Given the description of an element on the screen output the (x, y) to click on. 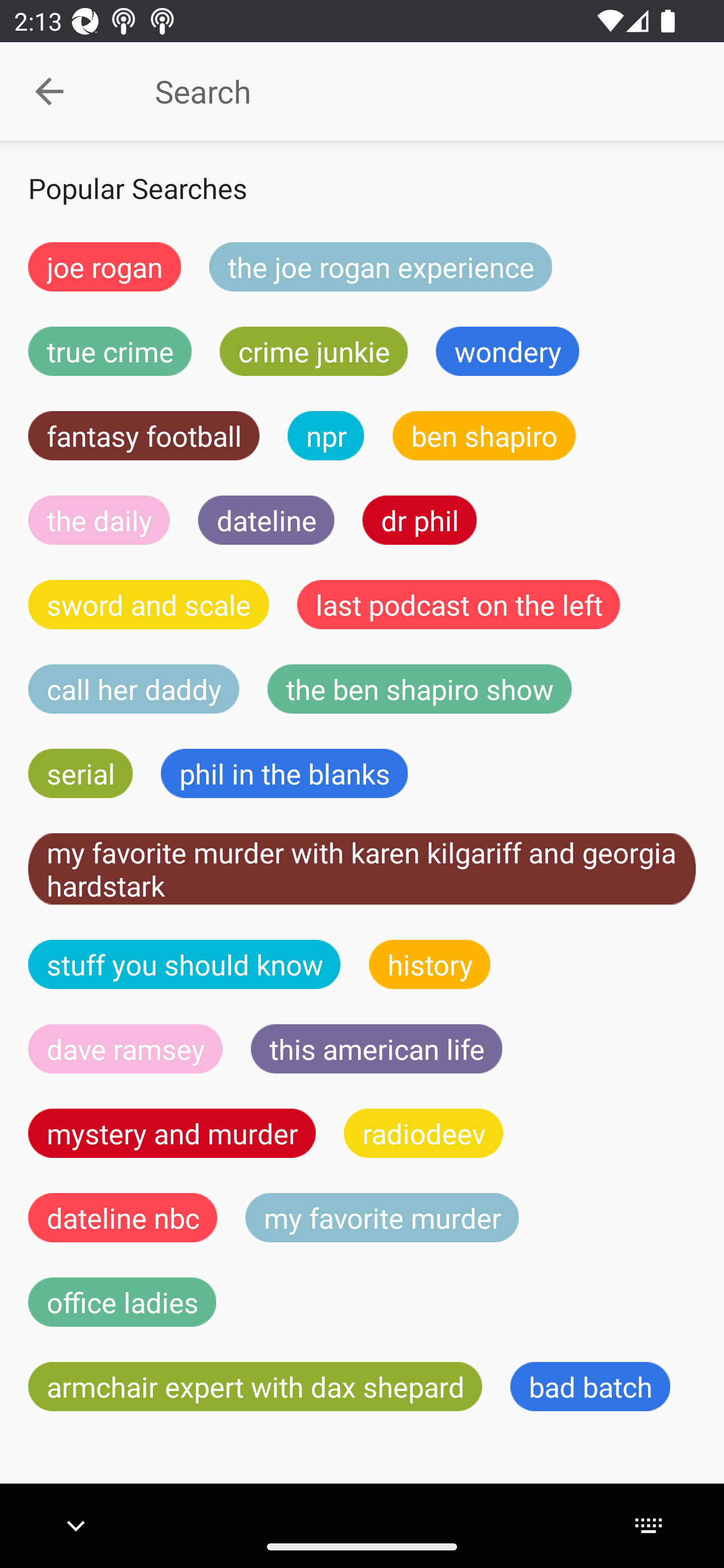
Collapse (49, 91)
Search (407, 91)
joe rogan (104, 266)
the joe rogan experience (380, 266)
true crime (109, 351)
crime junkie (313, 351)
wondery (507, 351)
fantasy football (143, 435)
npr (325, 435)
ben shapiro (483, 435)
the daily (99, 519)
dateline (266, 519)
dr phil (419, 519)
sword and scale (148, 604)
last podcast on the left (458, 604)
call her daddy (133, 688)
the ben shapiro show (419, 688)
serial (80, 773)
phil in the blanks (283, 773)
stuff you should know (184, 964)
history (429, 964)
dave ramsey (125, 1048)
this american life (376, 1048)
mystery and murder (171, 1132)
radiodeev (423, 1132)
dateline nbc (122, 1217)
my favorite murder (382, 1217)
office ladies (122, 1301)
armchair expert with dax shepard (255, 1386)
bad batch (590, 1386)
